Given the description of an element on the screen output the (x, y) to click on. 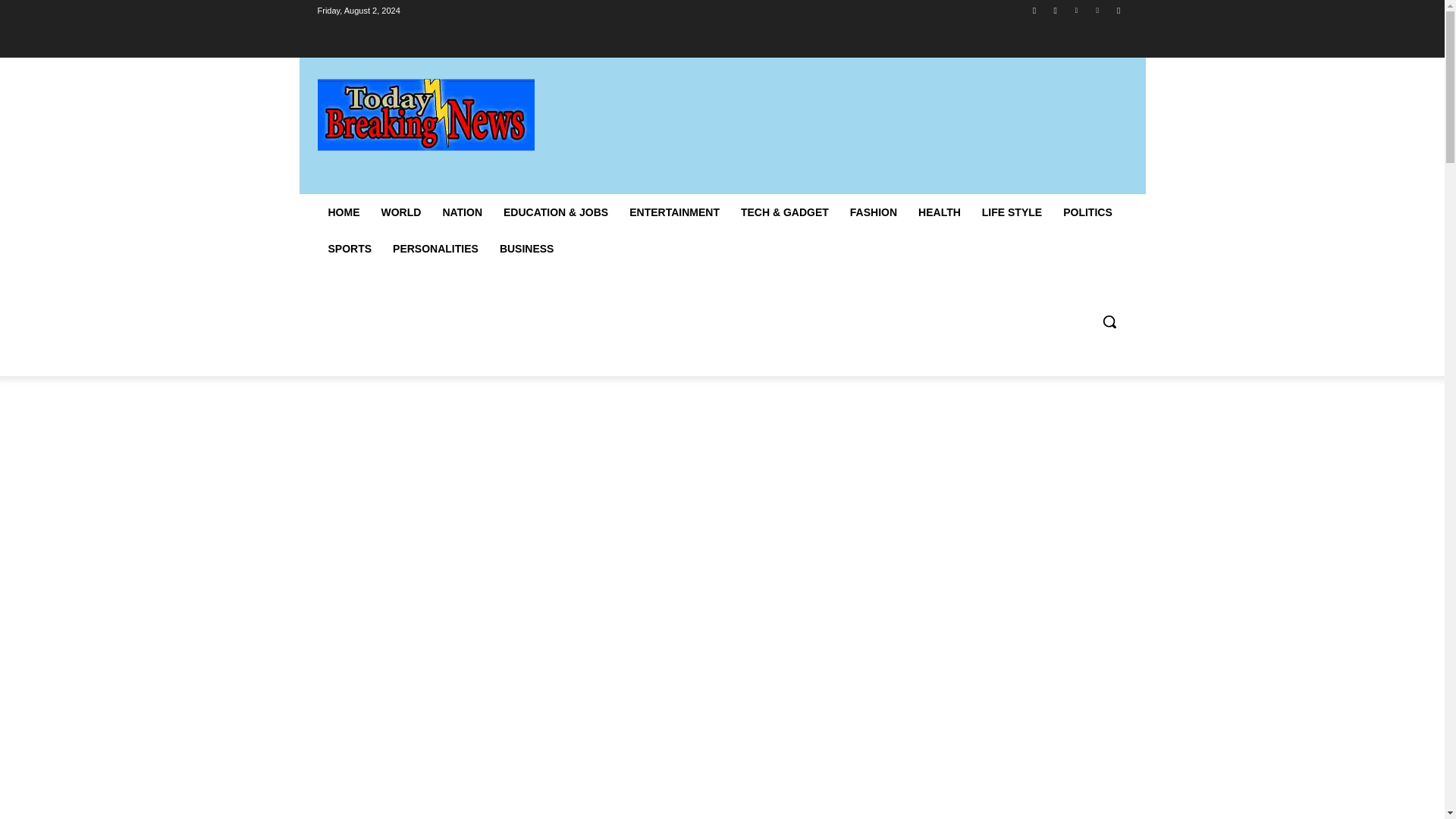
Vimeo (1097, 9)
HOME (343, 212)
Facebook (1034, 9)
Twitter (1075, 9)
Youtube (1117, 9)
Instagram (1055, 9)
